Given the description of an element on the screen output the (x, y) to click on. 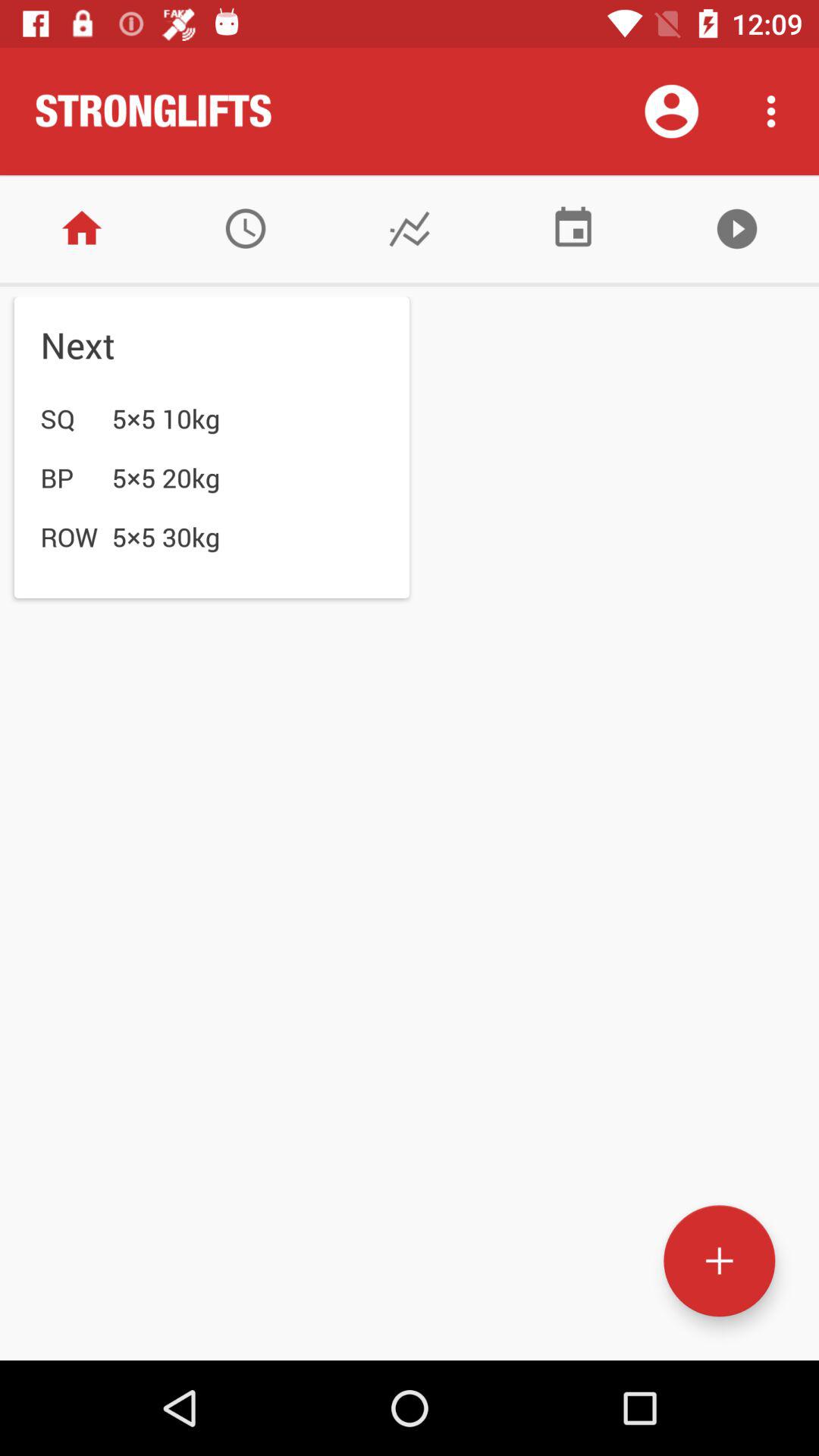
play (737, 228)
